Given the description of an element on the screen output the (x, y) to click on. 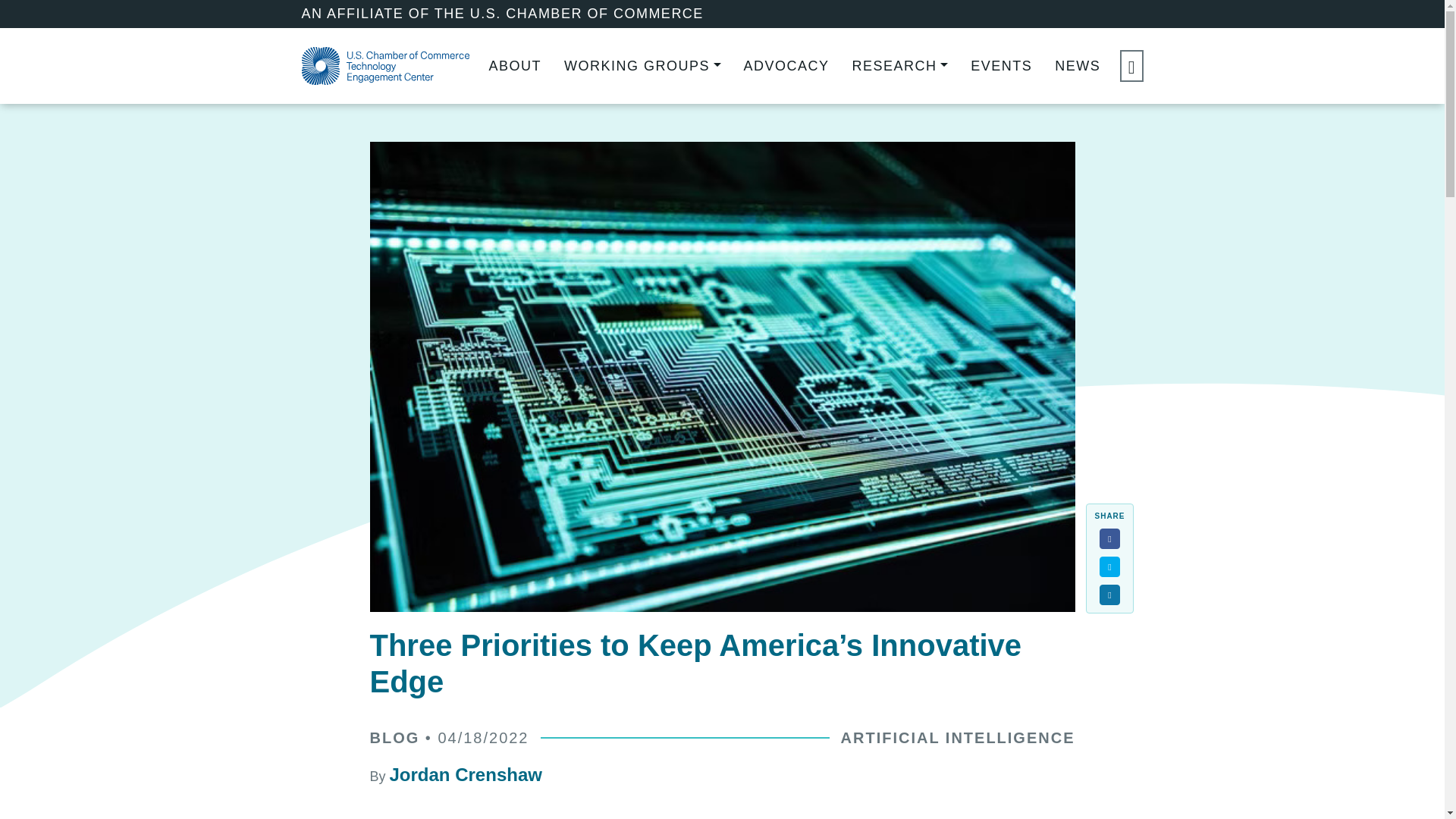
WORKING GROUPS (642, 66)
ADVOCACY (786, 66)
RESEARCH (900, 66)
ABOUT (514, 66)
AN AFFILIATE OF THE U.S. CHAMBER OF COMMERCE (502, 13)
